Given the description of an element on the screen output the (x, y) to click on. 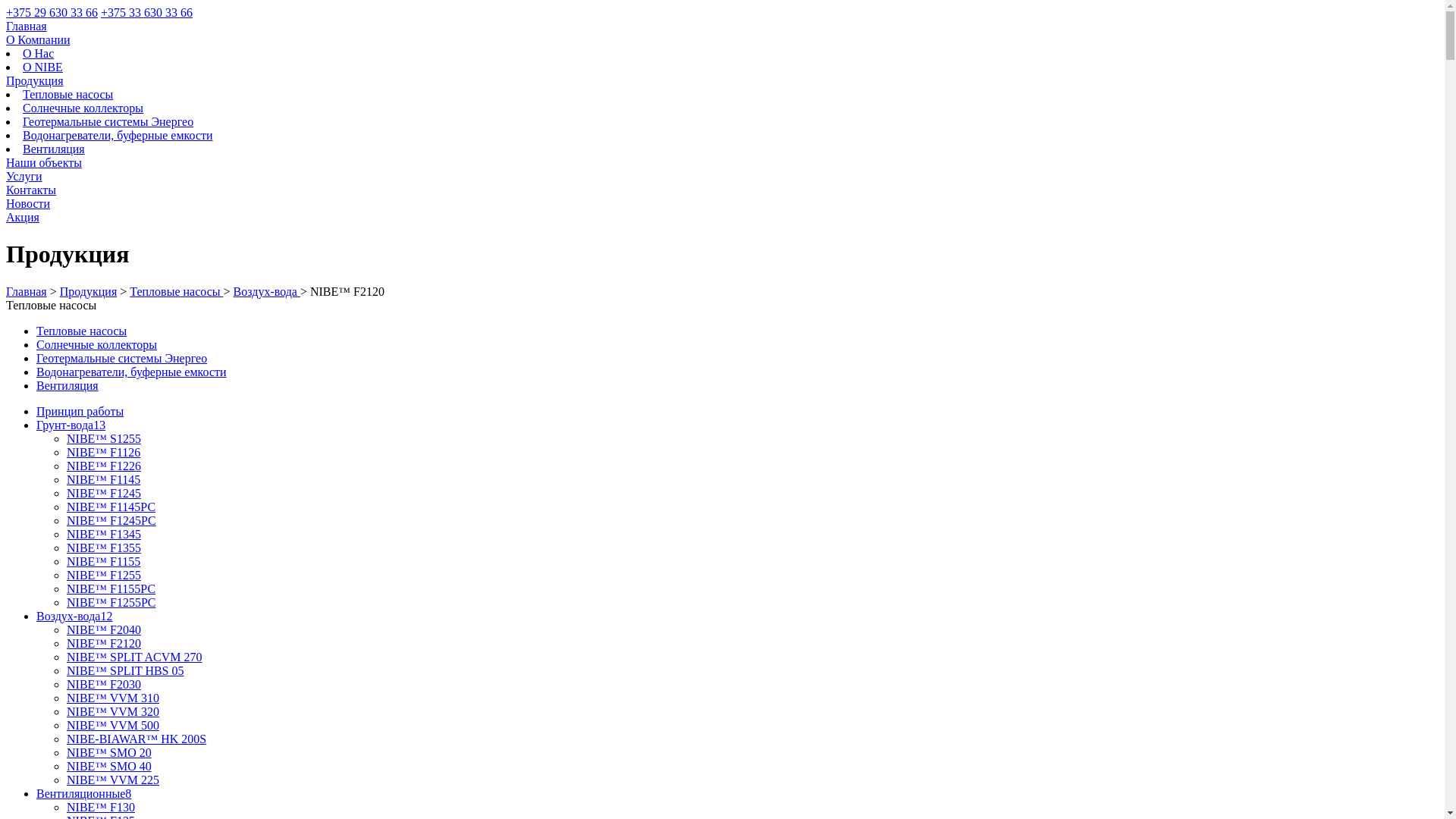
+375 29 630 33 66 Element type: text (51, 12)
+375 33 630 33 66 Element type: text (146, 12)
